Given the description of an element on the screen output the (x, y) to click on. 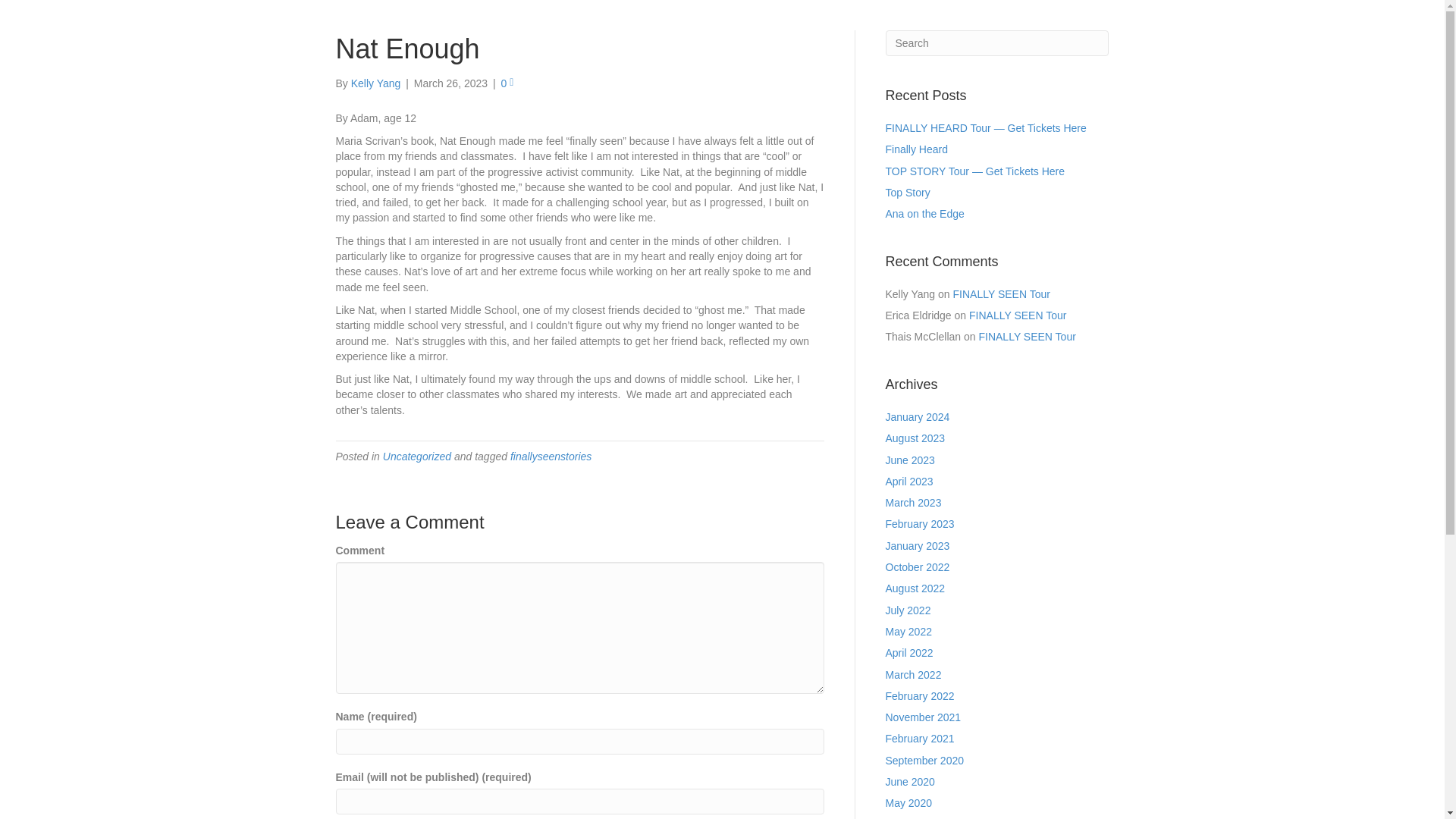
February 2023 (920, 523)
October 2022 (917, 567)
January 2023 (917, 545)
May 2020 (908, 802)
February 2021 (920, 738)
August 2023 (914, 438)
FINALLY SEEN Tour (1017, 315)
FINALLY SEEN Tour (1000, 294)
FINALLY SEEN Tour (1026, 336)
Top Story (907, 192)
